Given the description of an element on the screen output the (x, y) to click on. 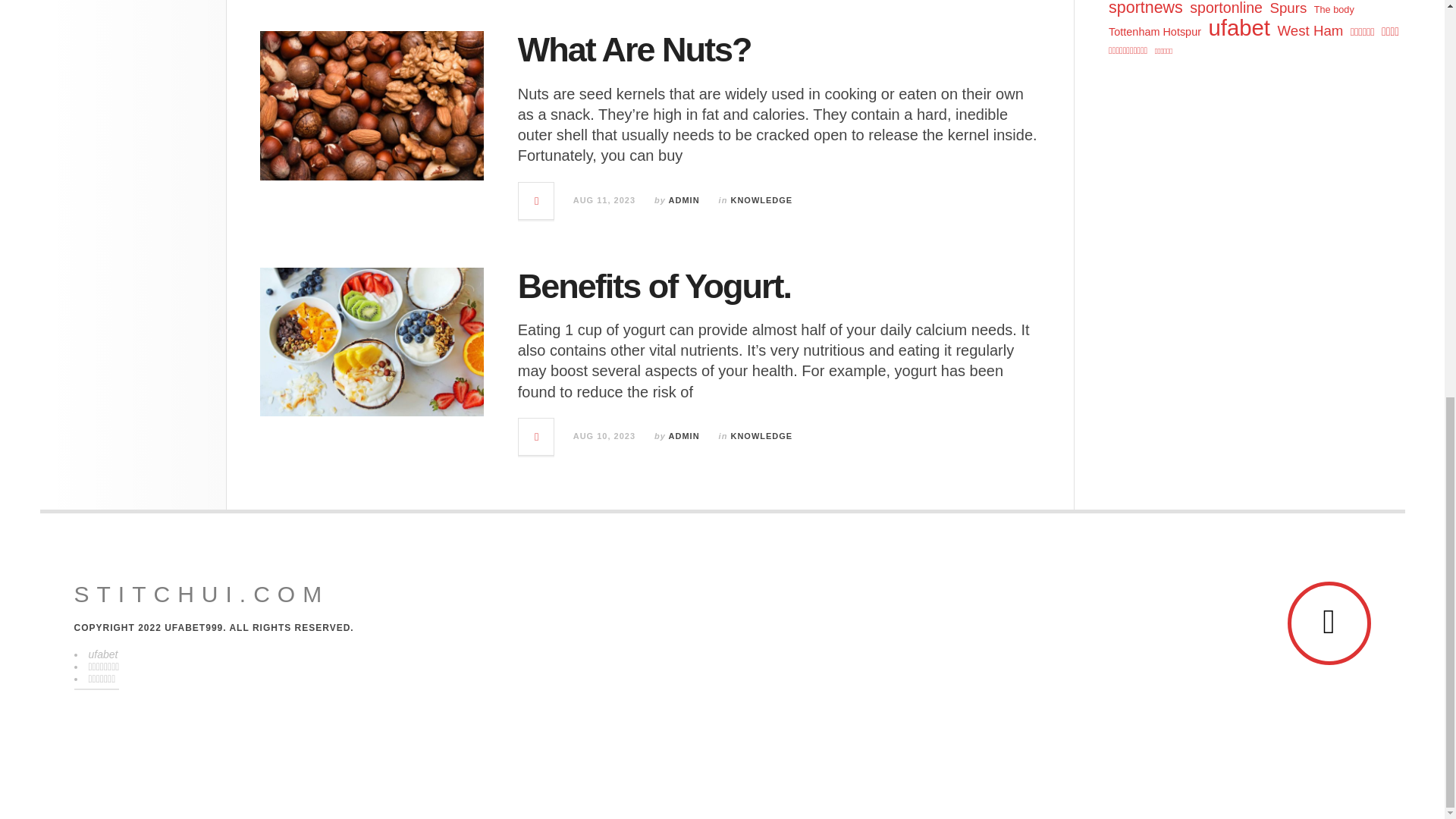
KNOWLEDGE (761, 435)
What Are Nuts? (634, 49)
ADMIN (684, 199)
KNOWLEDGE (761, 199)
Benefits of Yogurt. (654, 285)
ADMIN (684, 435)
